Given the description of an element on the screen output the (x, y) to click on. 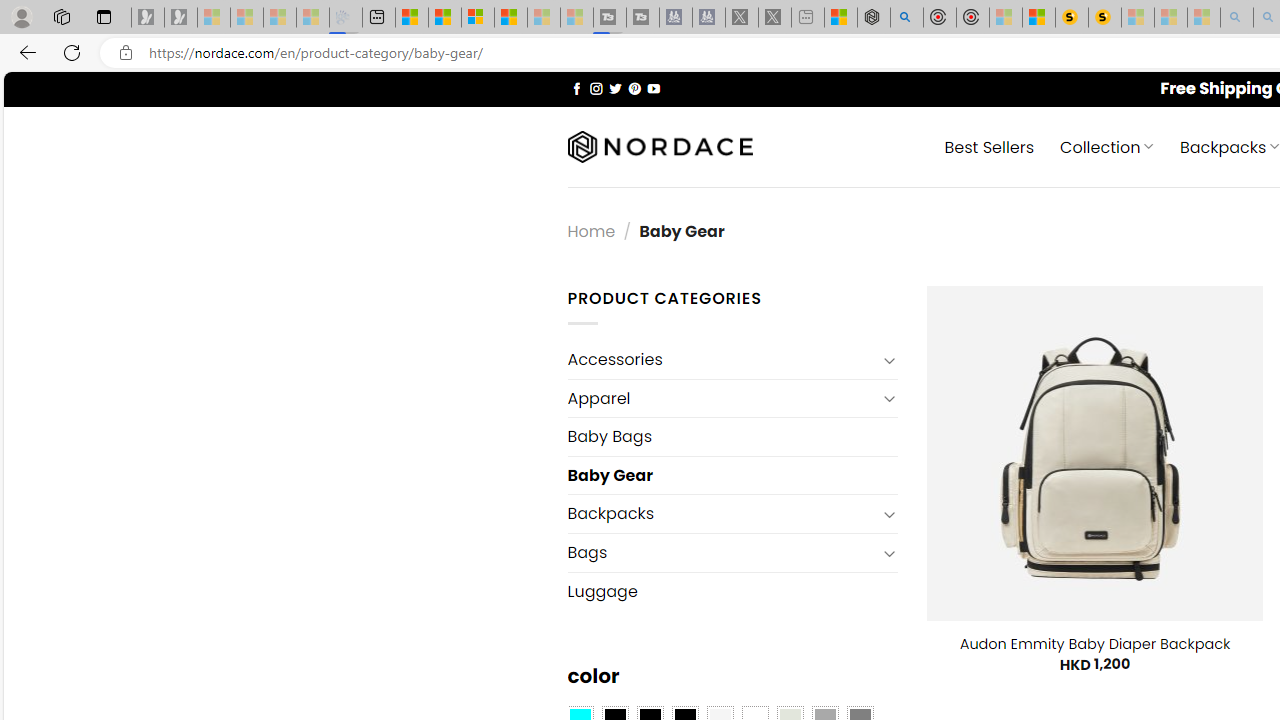
Audon Emmity Baby Diaper Backpack (1094, 643)
Luggage (732, 590)
Baby Gear (732, 475)
Overview (478, 17)
Baby Bags (732, 436)
Baby Gear (732, 475)
